Given the description of an element on the screen output the (x, y) to click on. 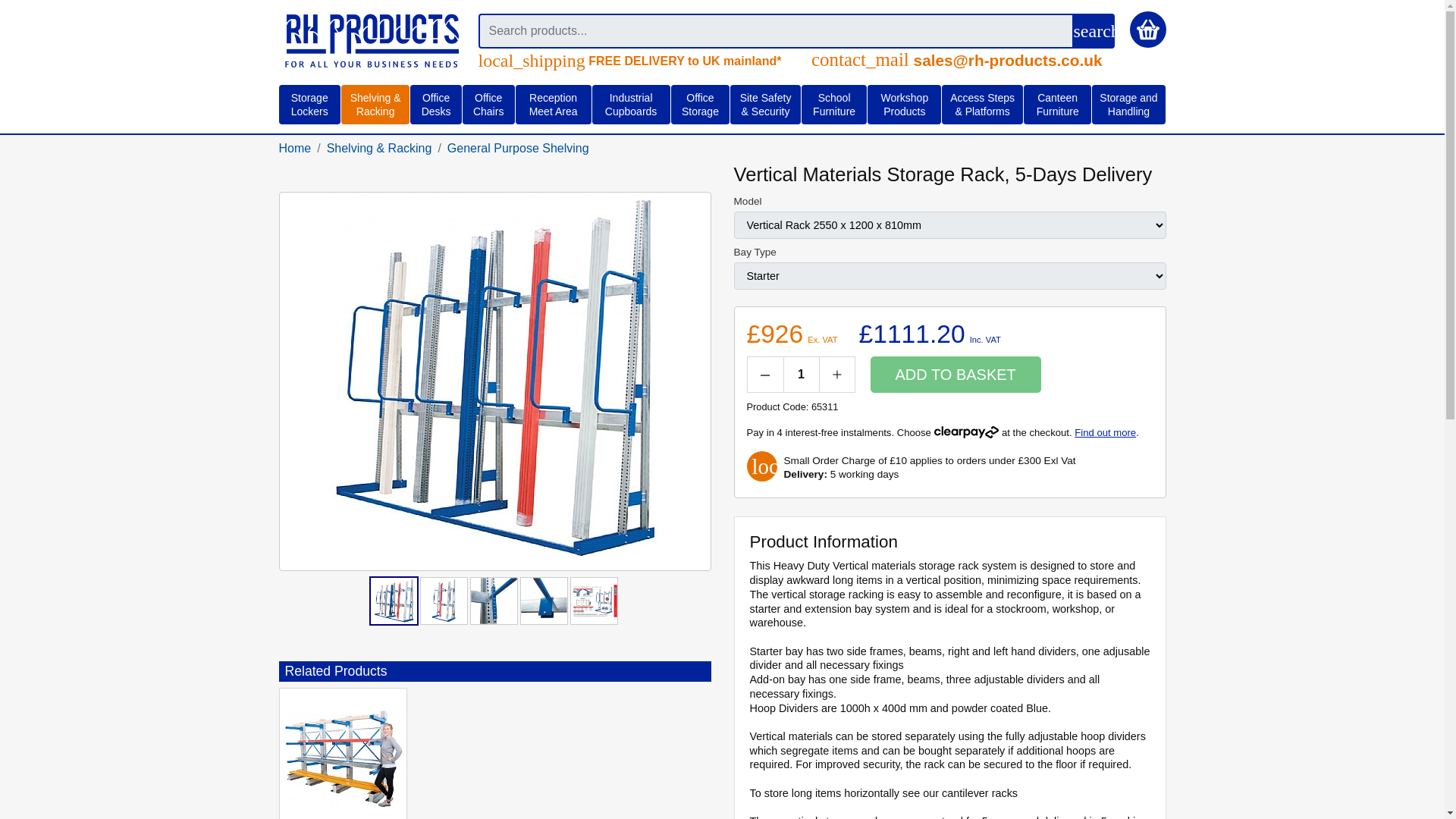
Canteen Furniture (1057, 104)
Home (295, 147)
Office Storage (700, 104)
Adjustable Hoop divider (542, 601)
ing (371, 40)
Workshop Products (903, 104)
Office Desks (435, 104)
ADD TO BASKET (955, 374)
Find out more (1104, 432)
Left and right hand fixed dividers (493, 601)
General Purpose Shelving (517, 147)
Storage and Handling (1128, 104)
Reception Meet Area (553, 104)
Storage Lockers (309, 104)
Office Chairs (489, 104)
